Given the description of an element on the screen output the (x, y) to click on. 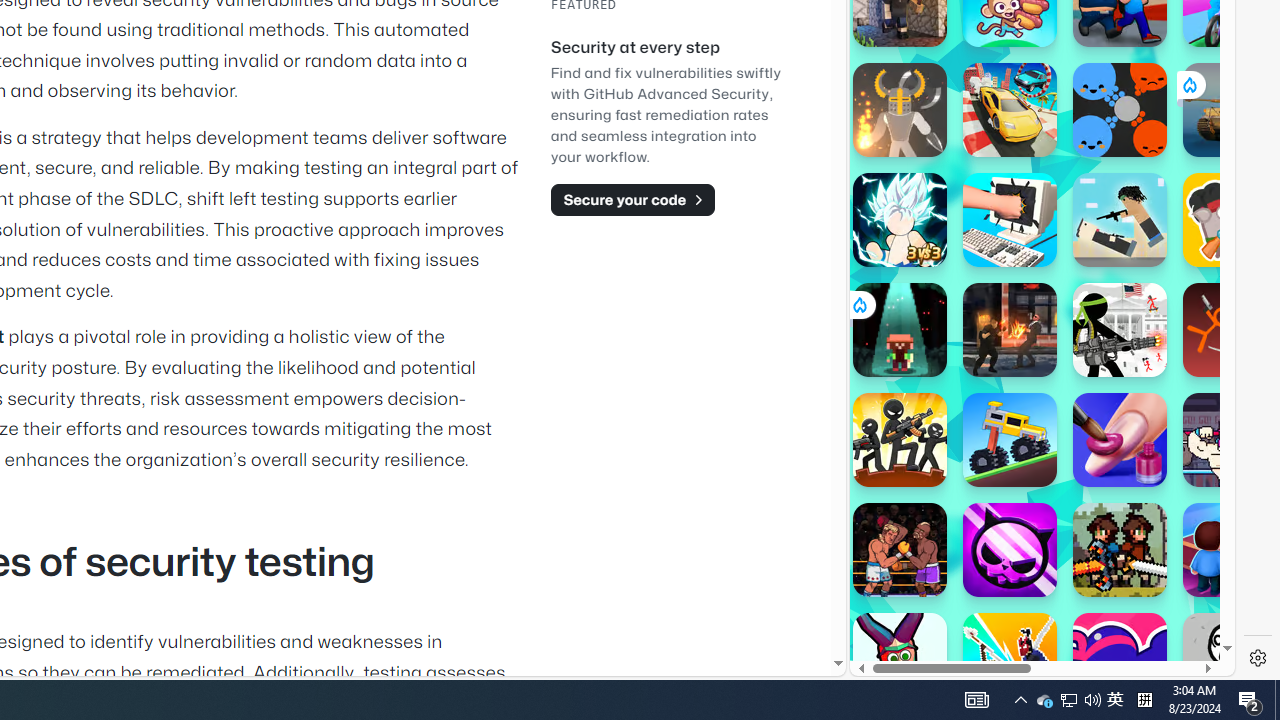
Tiger Tank (1229, 109)
Stickman Dragon Fight Stickman Dragon Fight (899, 219)
Hills of Steel (943, 300)
We Become What We Behold We Become What We Behold (1229, 659)
Fury Wars Fury Wars (1009, 549)
Smash It Smash It (1009, 219)
Stick Fighter (1119, 659)
My Perfect Hotel My Perfect Hotel (1229, 549)
